Given the description of an element on the screen output the (x, y) to click on. 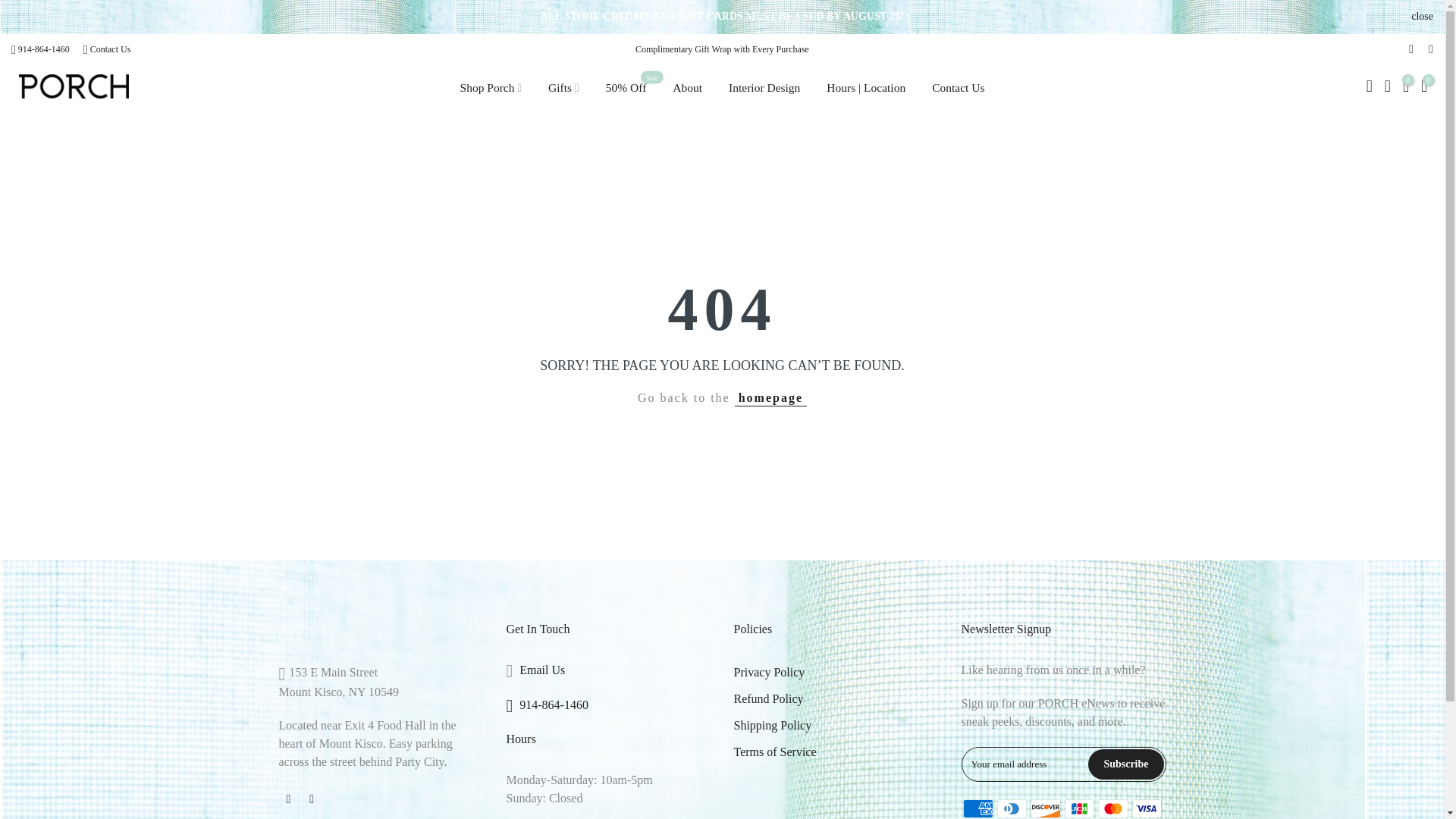
close (1417, 16)
Shop Porch (490, 87)
Contact Us (110, 49)
